Given the description of an element on the screen output the (x, y) to click on. 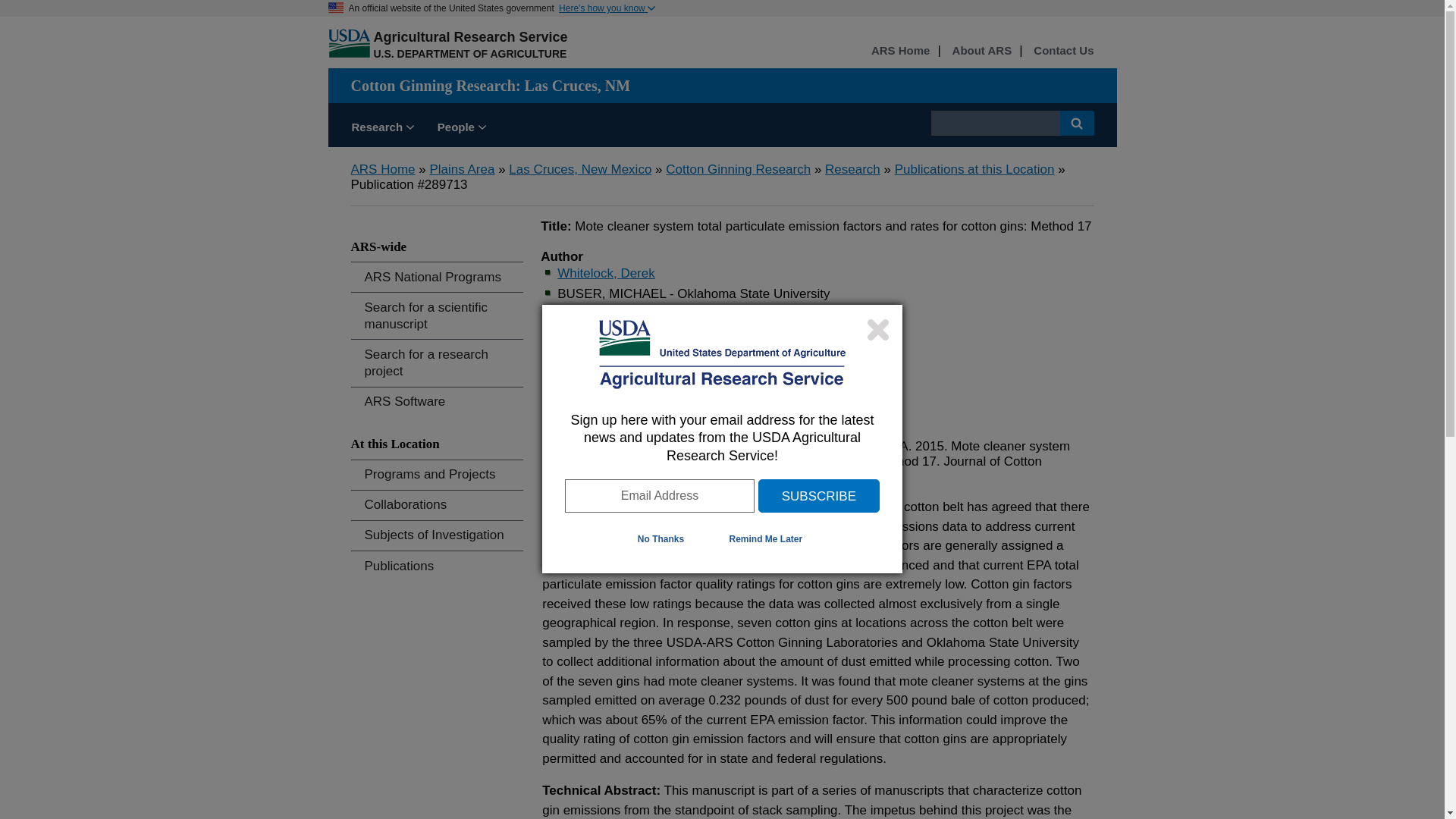
About ARS (981, 50)
Contact Us (1063, 50)
Contact Us (1063, 50)
About ARS (981, 50)
Publications (436, 565)
Programs and Projects (436, 474)
U.S. DEPARTMENT OF AGRICULTURE Home (469, 53)
Collaborations (436, 505)
Cotton Ginning Research (737, 169)
ARS Home (900, 50)
ARS Software (436, 401)
Research (852, 169)
Email Address (659, 495)
Agricultural Research Service (469, 37)
Plains Area (462, 169)
